Given the description of an element on the screen output the (x, y) to click on. 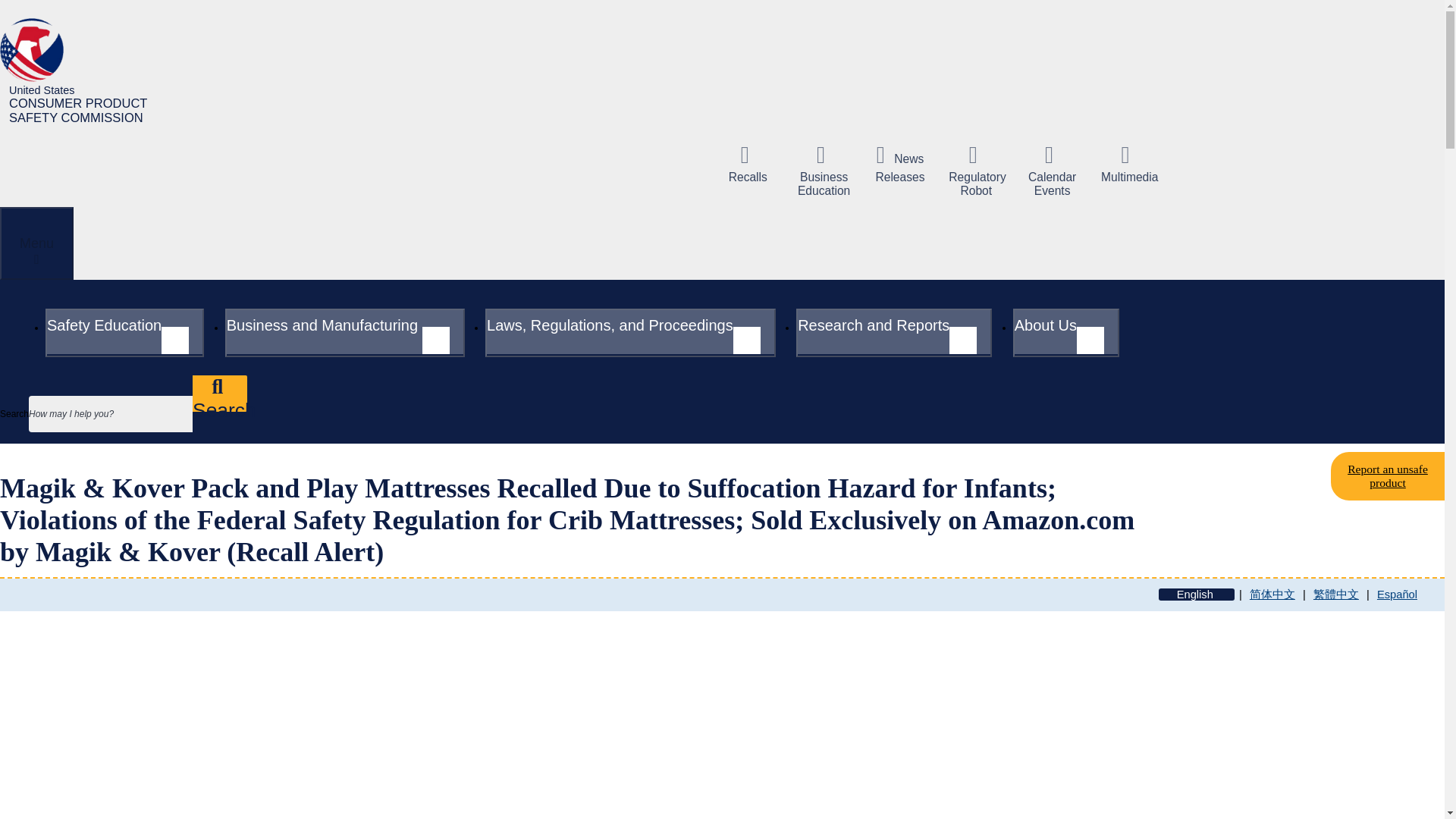
  Multimedia (1128, 163)
Copy link and share (333, 687)
Laws, Regulations, and Proceedings (81, 71)
  Business Education (630, 332)
  Calendar Events (823, 170)
News Releases (1052, 170)
Share it on Twitter (899, 163)
Business Education (238, 687)
Copy Link (823, 170)
